Given the description of an element on the screen output the (x, y) to click on. 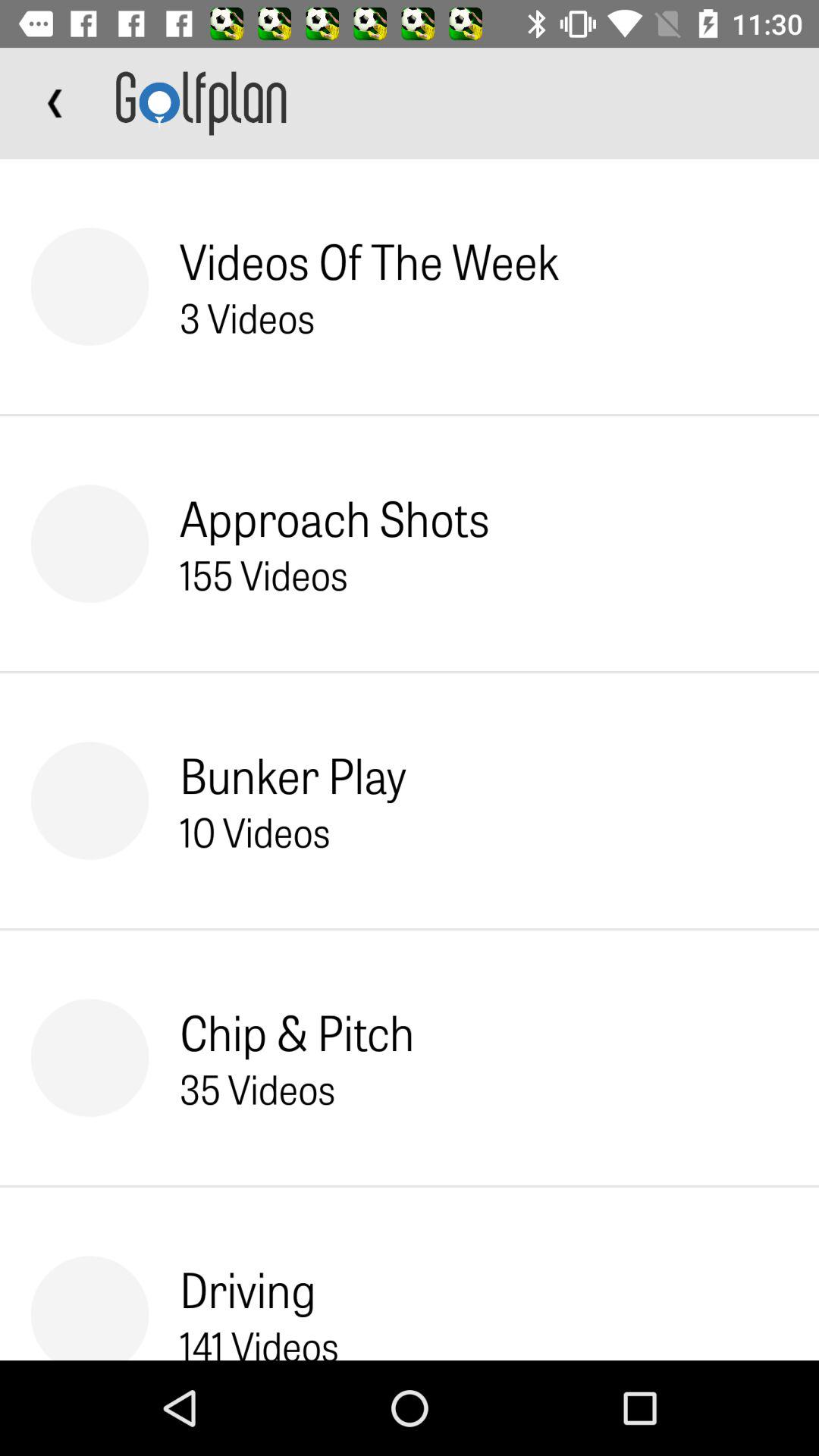
select the icon above the bunker play (263, 574)
